Given the description of an element on the screen output the (x, y) to click on. 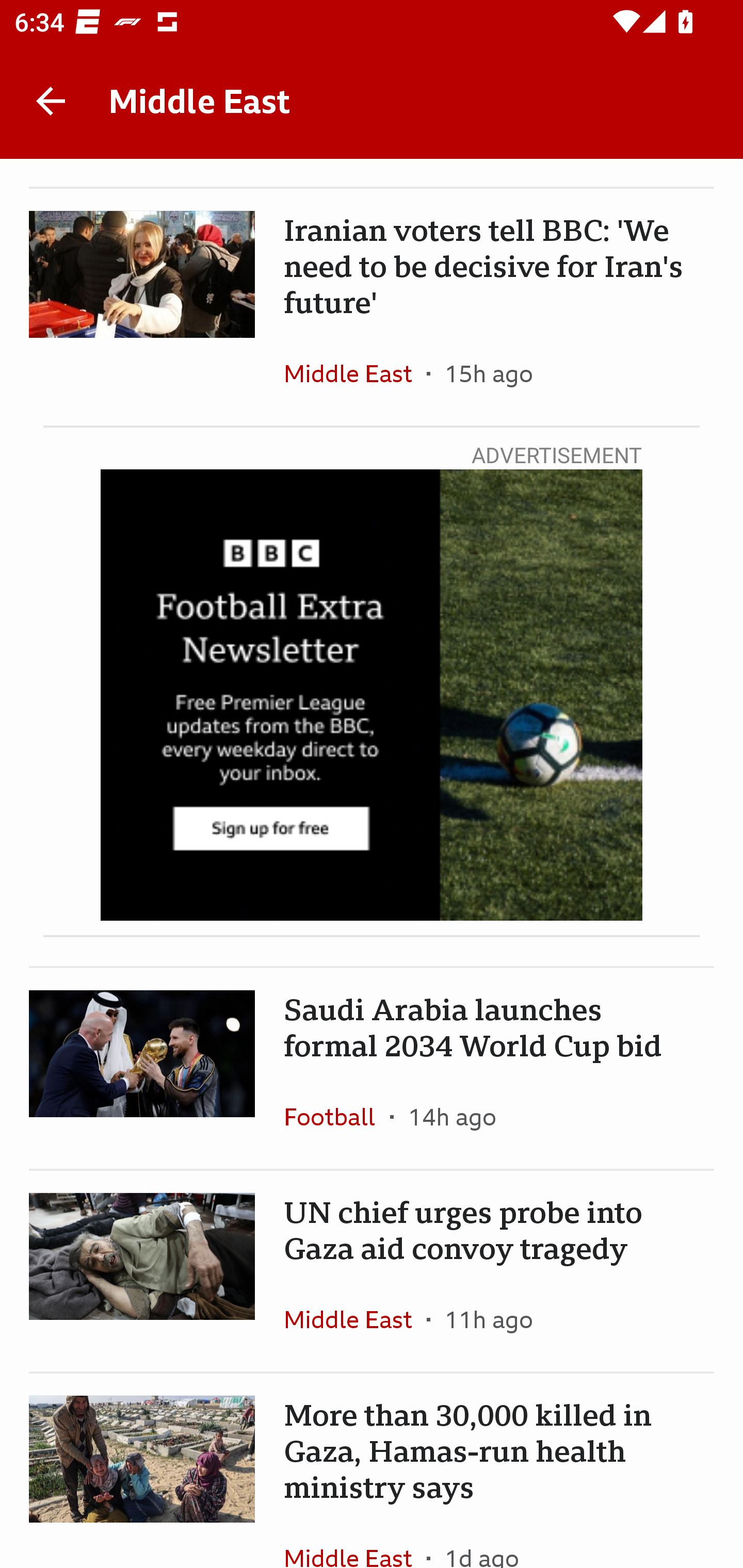
Back (50, 101)
Middle East In the section Middle East (354, 372)
Football In the section Football (336, 1116)
Middle East In the section Middle East (354, 1319)
Middle East In the section Middle East (354, 1537)
